Given the description of an element on the screen output the (x, y) to click on. 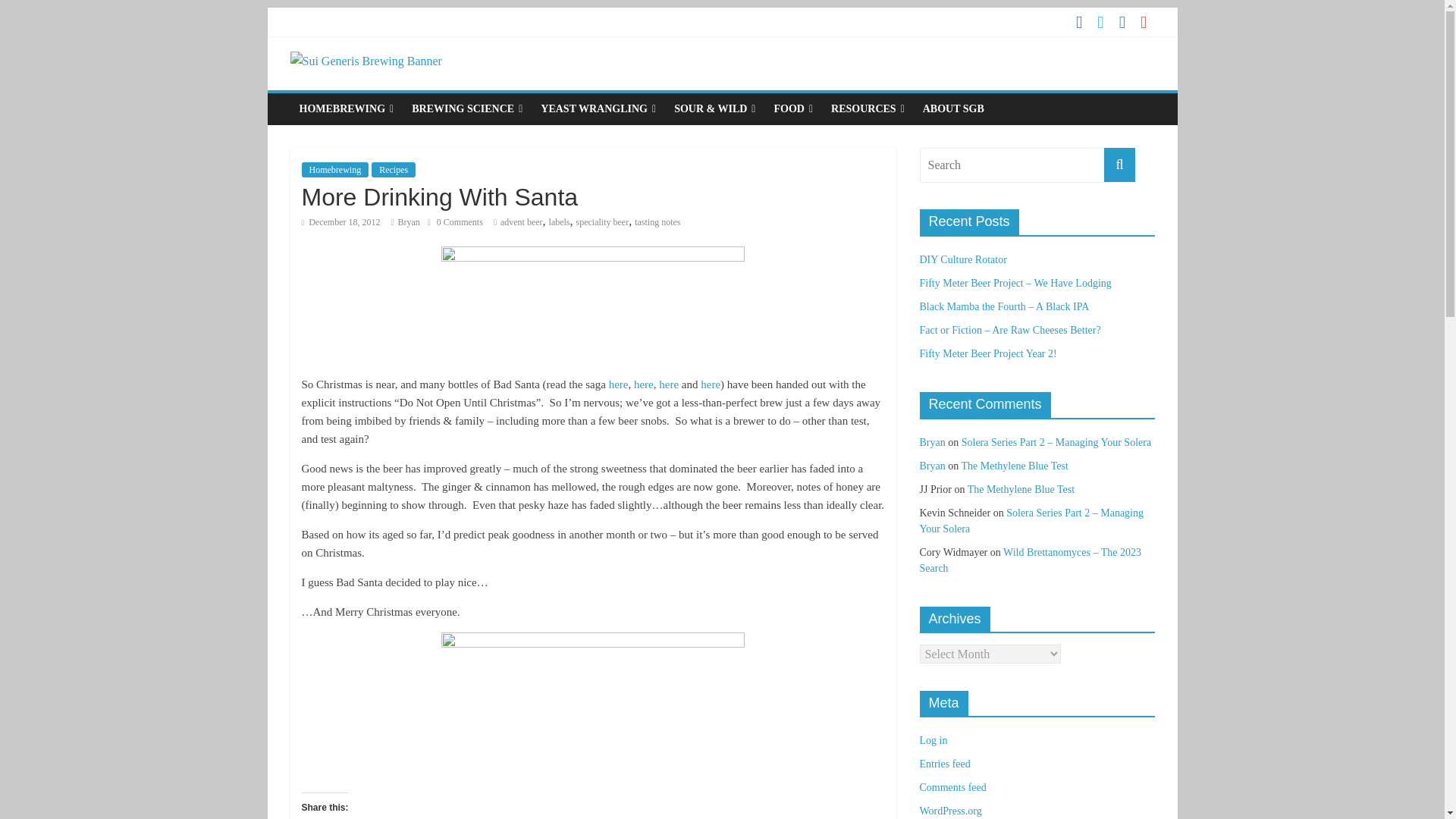
YEAST WRANGLING (598, 109)
HOMEBREWING (346, 109)
ABOUT SGB (953, 109)
Homebrewing (335, 169)
1:52 PM (340, 222)
RESOURCES (868, 109)
BREWING SCIENCE (467, 109)
Bryan (408, 222)
FOOD (793, 109)
